Given the description of an element on the screen output the (x, y) to click on. 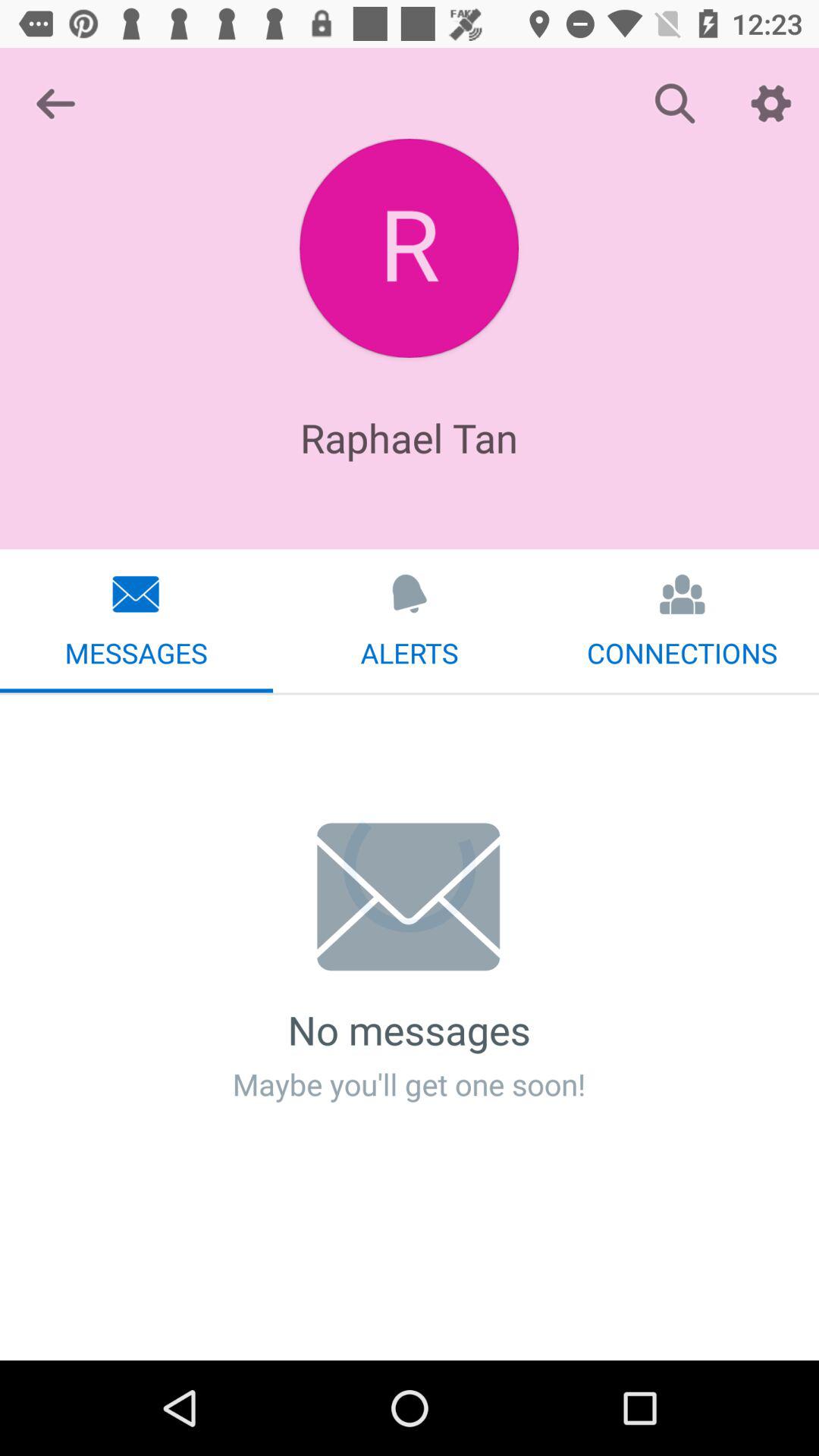
choose the icon at the top left corner (55, 103)
